Given the description of an element on the screen output the (x, y) to click on. 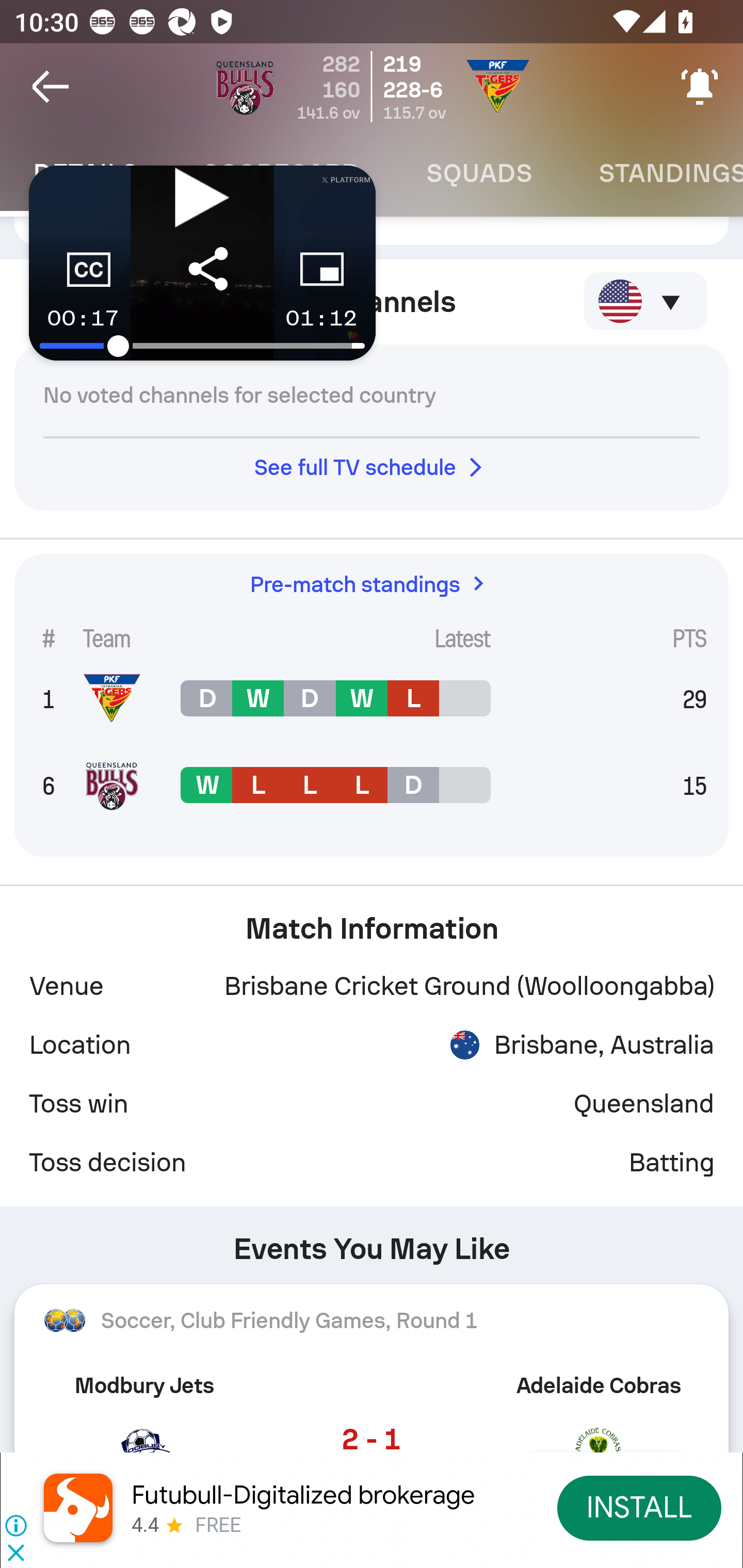
Navigate up (50, 86)
Squads SQUADS (479, 173)
Standings STANDINGS (654, 173)
See full TV schedule (371, 467)
Events You May Like (371, 1240)
Soccer, Club Friendly Games, Round 1 (371, 1320)
INSTALL (639, 1507)
Futubull-Digitalized brokerage (302, 1494)
